Given the description of an element on the screen output the (x, y) to click on. 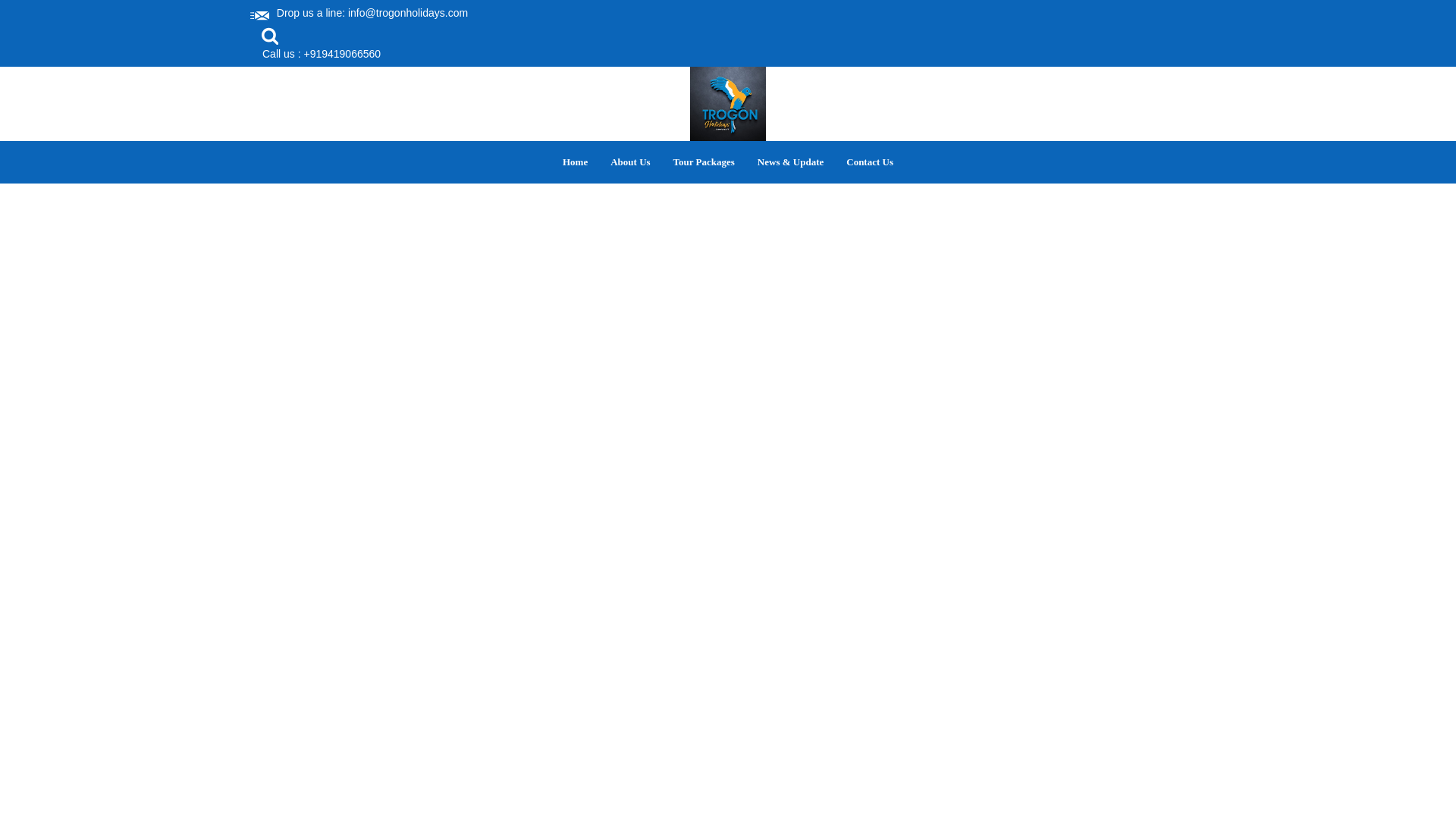
Contact Us (869, 161)
Home (574, 161)
About Us (629, 161)
About Us (629, 161)
Home (574, 161)
Tour Packages (703, 161)
Trogon Holidays (727, 103)
Tour Packages (703, 161)
Contact Us (869, 161)
